Given the description of an element on the screen output the (x, y) to click on. 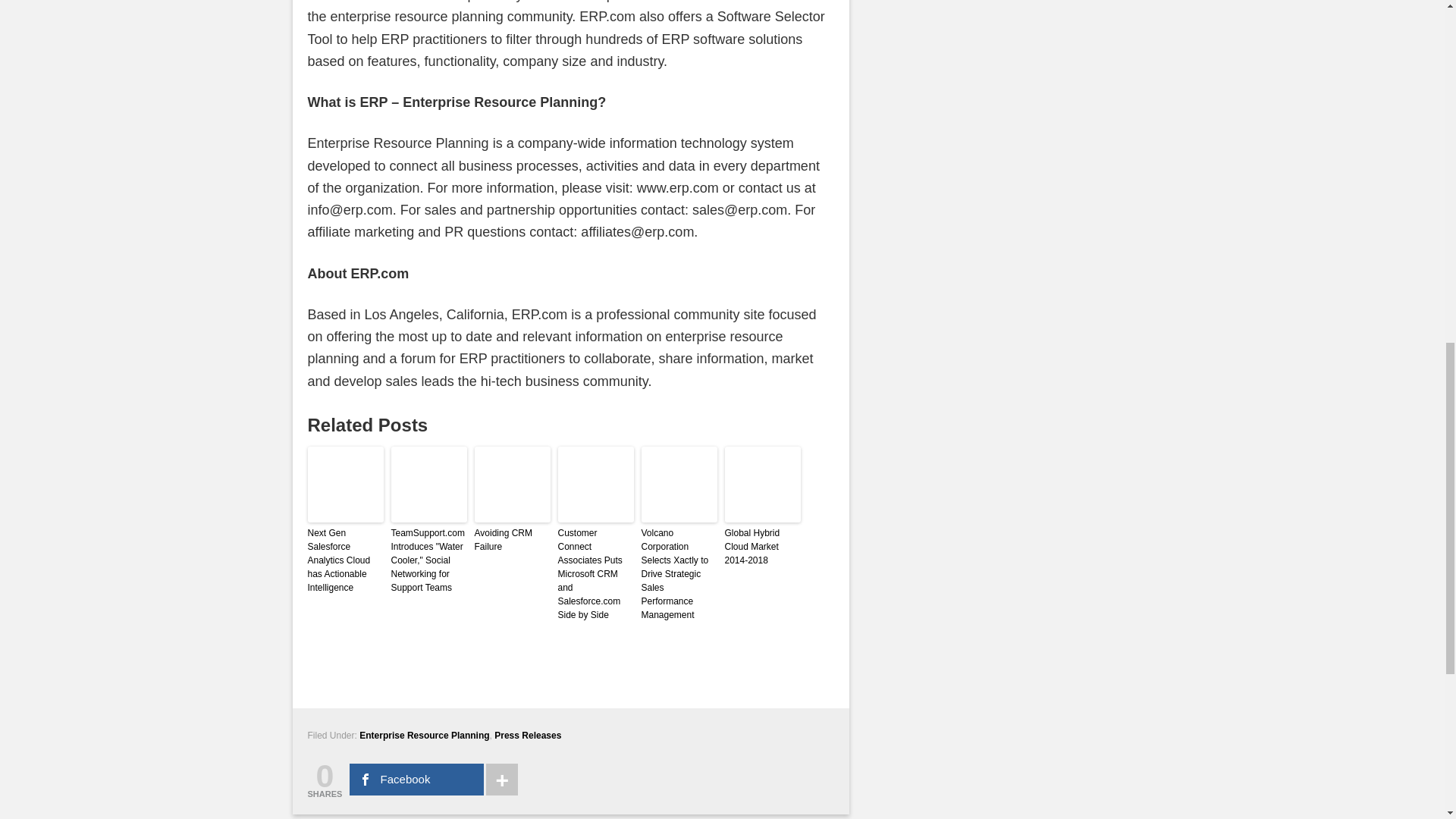
Avoiding CRM Failure (512, 539)
